Given the description of an element on the screen output the (x, y) to click on. 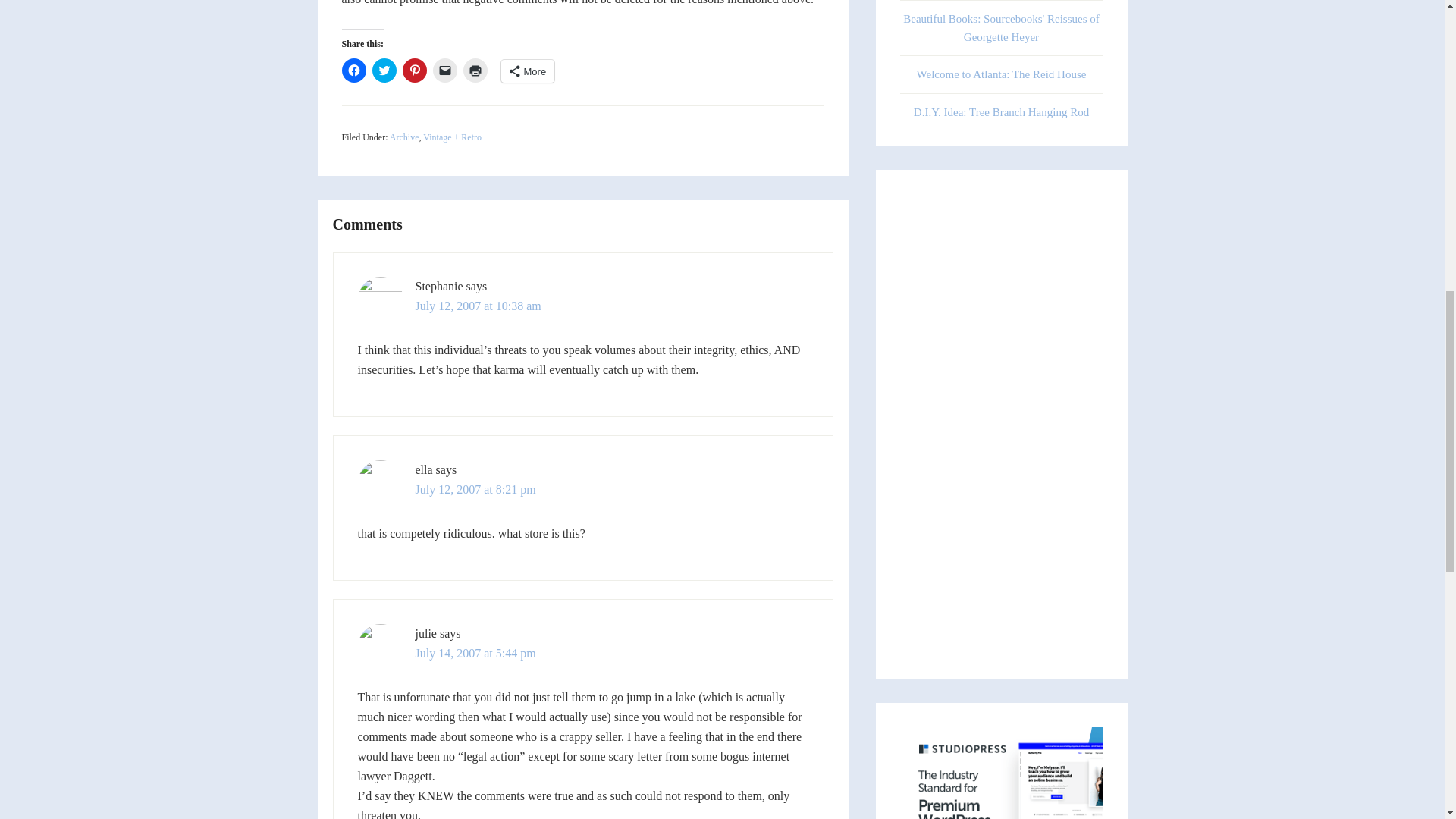
Click to email a link to a friend (444, 70)
More (527, 70)
Click to share on Pinterest (413, 70)
July 12, 2007 at 10:38 am (477, 305)
Archive (404, 136)
Beautiful Books: Sourcebooks' Reissues of Georgette Heyer (1000, 27)
Click to print (474, 70)
July 12, 2007 at 8:21 pm (474, 489)
Click to share on Twitter (383, 70)
Click to share on Facebook (352, 70)
